Given the description of an element on the screen output the (x, y) to click on. 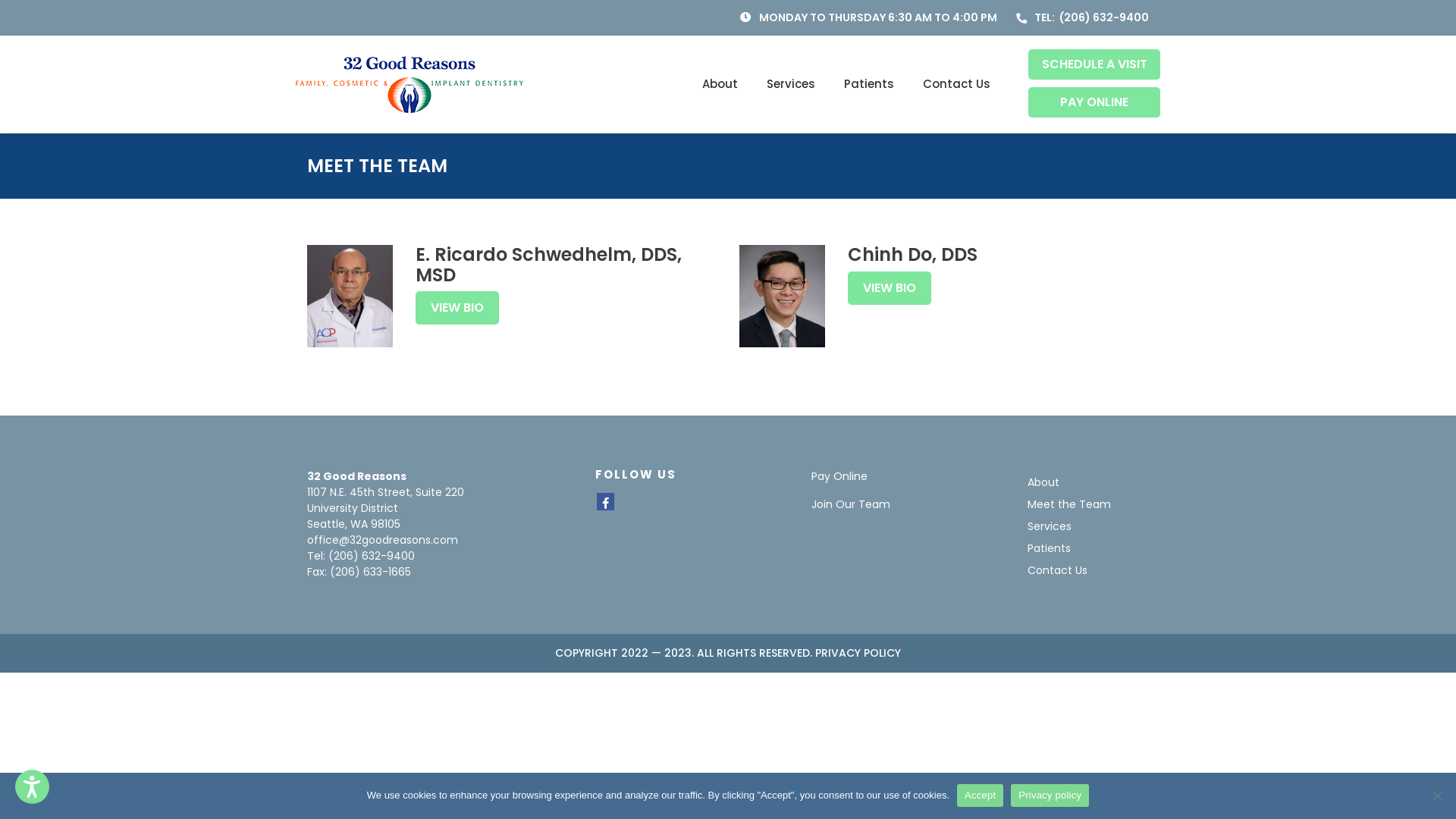
Contact Us Element type: text (950, 84)
Join Our Team Element type: text (850, 503)
VIEW BIO Element type: text (889, 287)
SCHEDULE A VISIT Element type: text (1094, 64)
No Element type: hover (1436, 795)
About Element type: text (719, 84)
facebook Element type: hover (605, 502)
Pay Online Element type: text (839, 475)
PRIVACY POLICY Element type: text (857, 652)
About Element type: text (1043, 481)
Patients Element type: text (868, 84)
Services Element type: text (790, 84)
Privacy policy Element type: text (1049, 795)
PAY ONLINE Element type: text (1094, 102)
Opens in new tab Element type: hover (605, 501)
VIEW BIO Element type: text (456, 307)
Accept Element type: text (980, 795)
Patients Element type: text (1048, 547)
Services Element type: text (1049, 525)
(206) 632-9400 Element type: text (1103, 17)
Contact Us Element type: text (1057, 569)
Meet the Team Element type: text (1068, 503)
office@32goodreasons.com Element type: text (382, 539)
Tel: (206) 632-9400 Element type: text (360, 555)
